Given the description of an element on the screen output the (x, y) to click on. 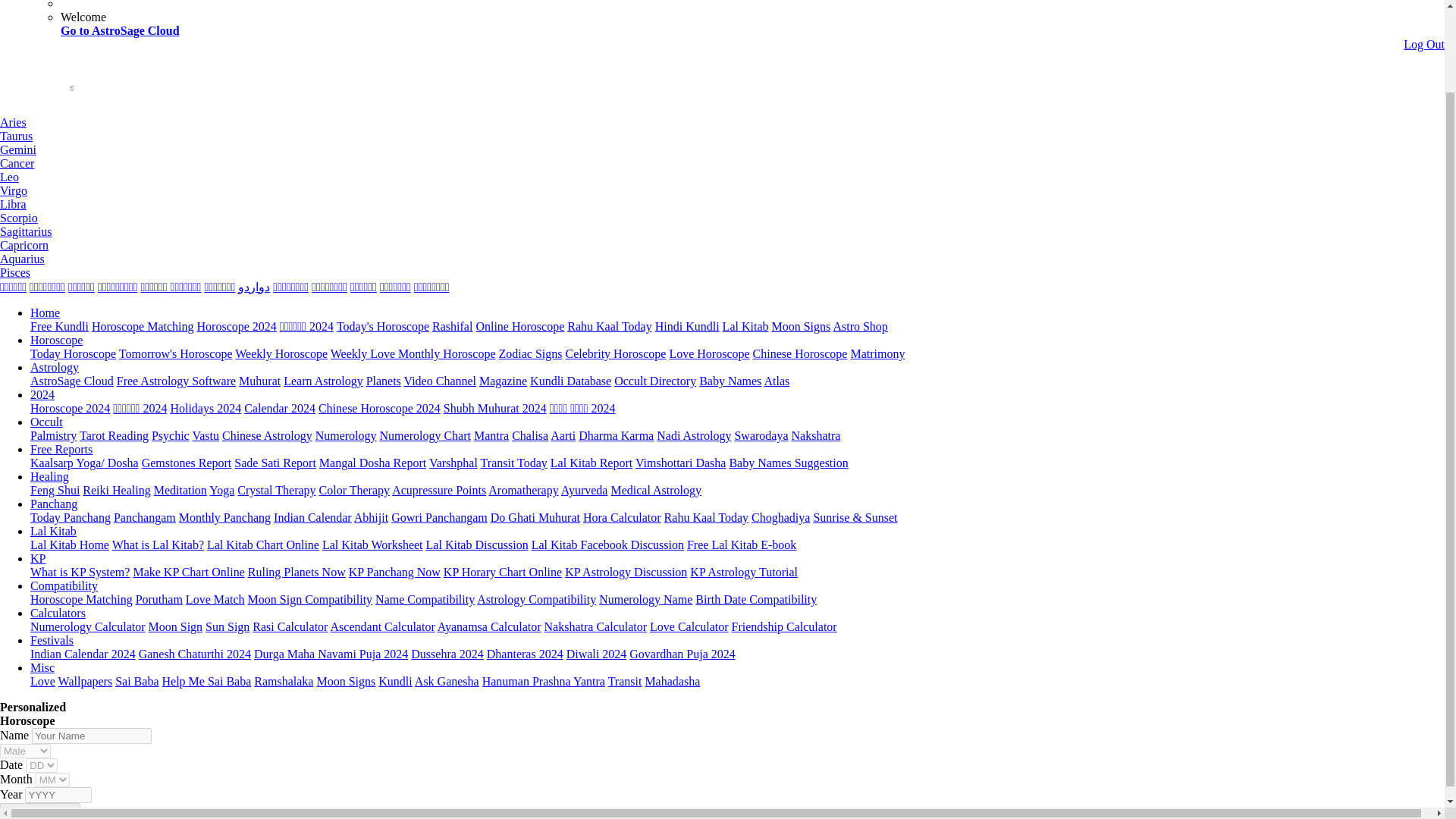
Marathi (154, 286)
Capricorn (24, 245)
Aries (13, 122)
Cancer (16, 163)
Hindi (290, 286)
Urdu (253, 286)
Leo (9, 176)
Telugu (47, 286)
Tamil (13, 286)
Nepali (329, 286)
